Given the description of an element on the screen output the (x, y) to click on. 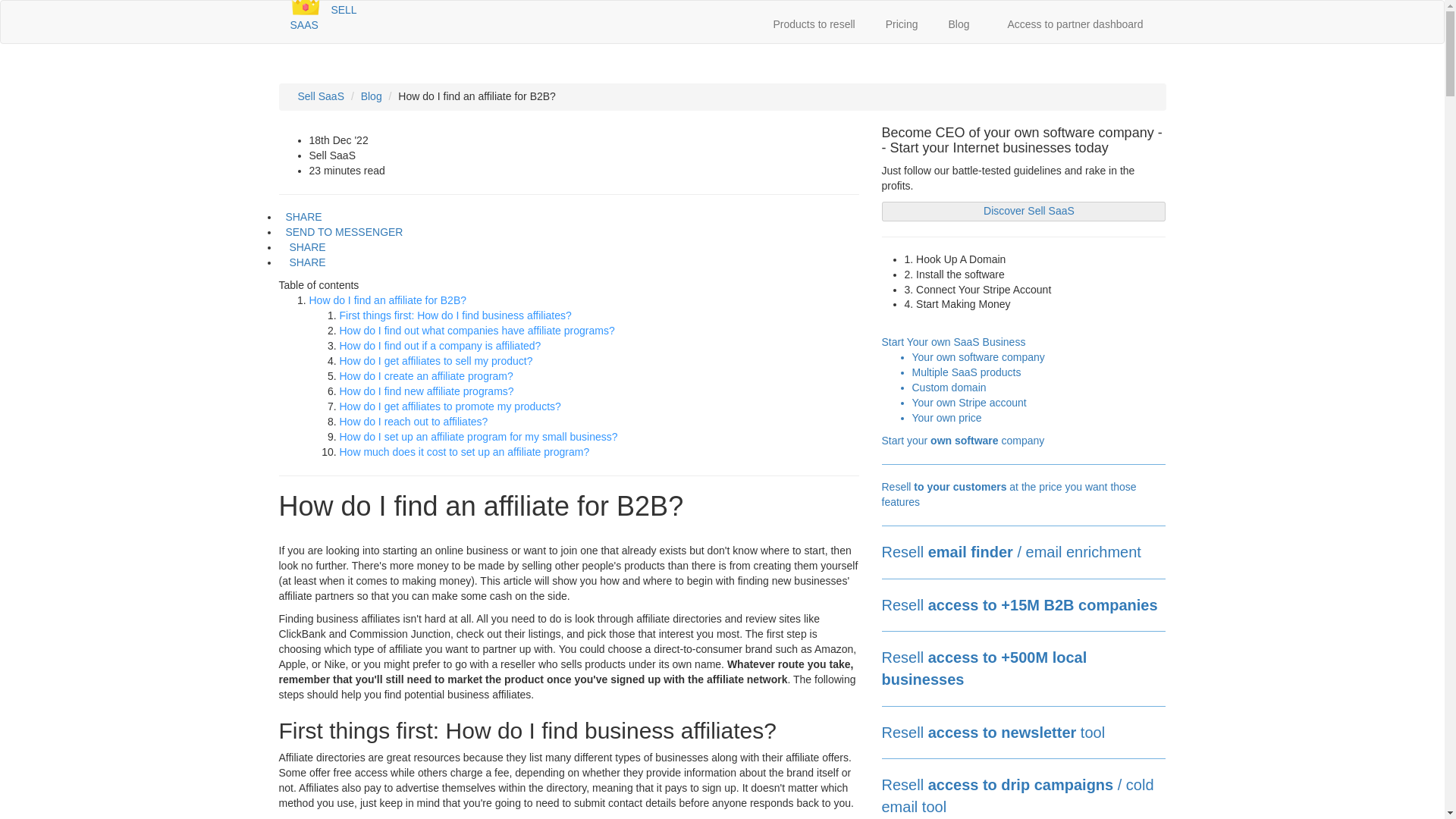
SHARE (302, 262)
How do I set up an affiliate program for my small business? (478, 436)
Sell SaaS (320, 96)
How do I find new affiliate programs? (426, 390)
How much does it cost to set up an affiliate program? (464, 451)
Discover Sell SaaS (1023, 211)
SHARE (302, 246)
How do I find an affiliate for B2B? (387, 300)
First things first: How do I find business affiliates? (455, 315)
How do I get affiliates to promote my products? (449, 406)
